Given the description of an element on the screen output the (x, y) to click on. 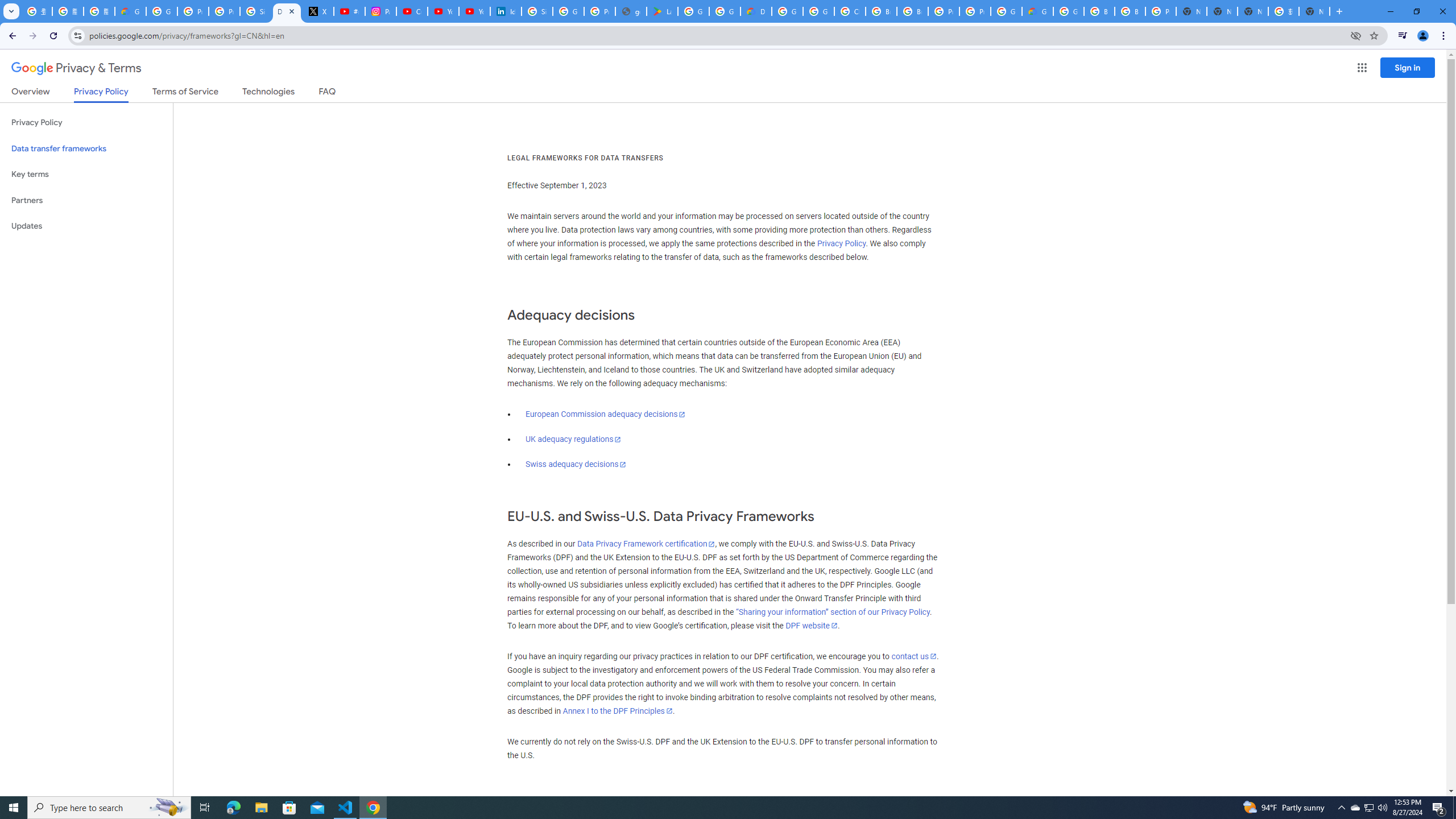
New Tab (1314, 11)
YouTube Culture & Trends - YouTube Top 10, 2021 (474, 11)
Sign in - Google Accounts (536, 11)
